Given the description of an element on the screen output the (x, y) to click on. 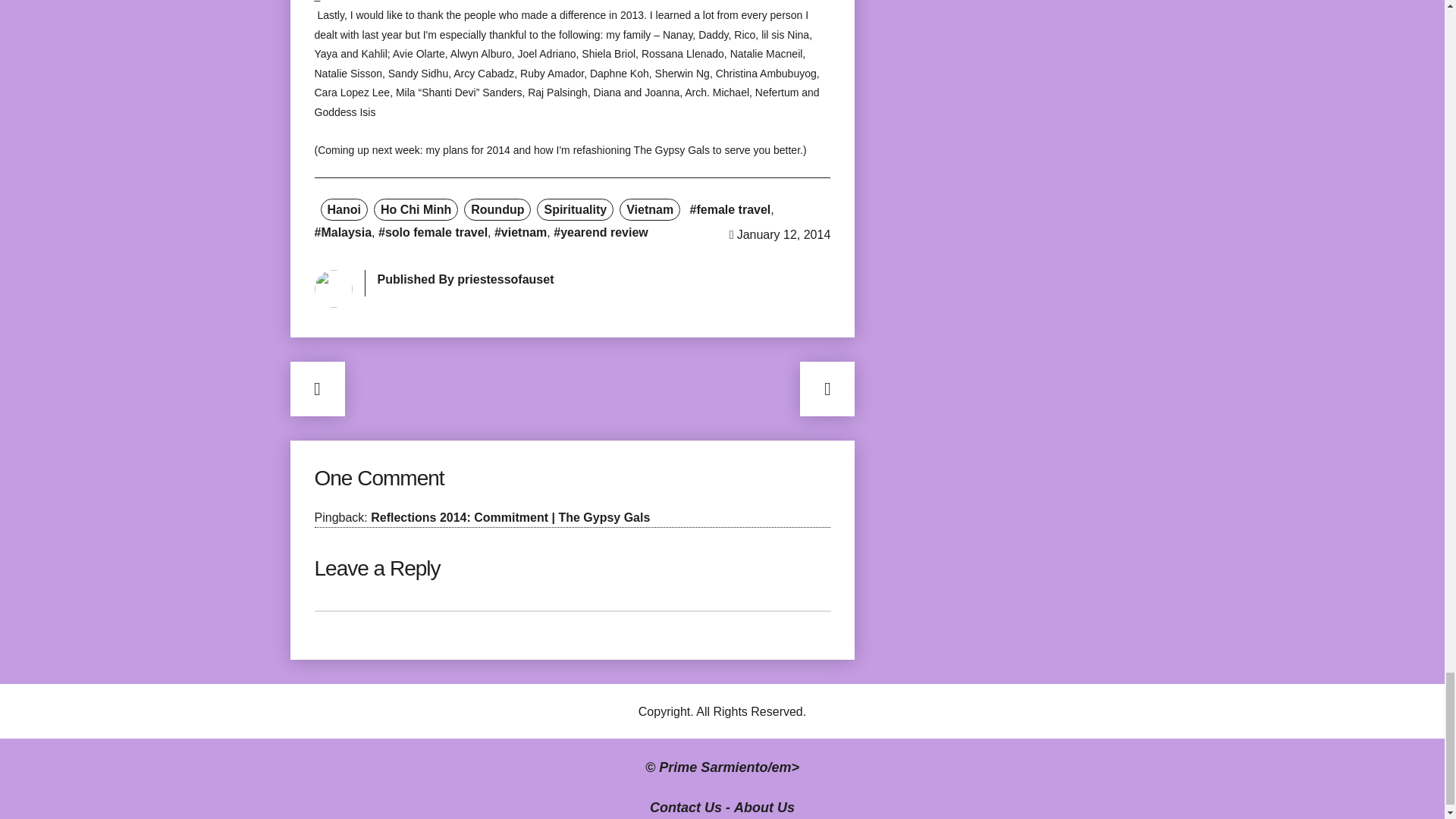
About Us (763, 807)
priestessofauset (505, 278)
Ho Chi Minh (416, 209)
Vietnam (649, 209)
Spirituality (574, 209)
Contact Us (685, 807)
Roundup (497, 209)
Hanoi (343, 209)
